Given the description of an element on the screen output the (x, y) to click on. 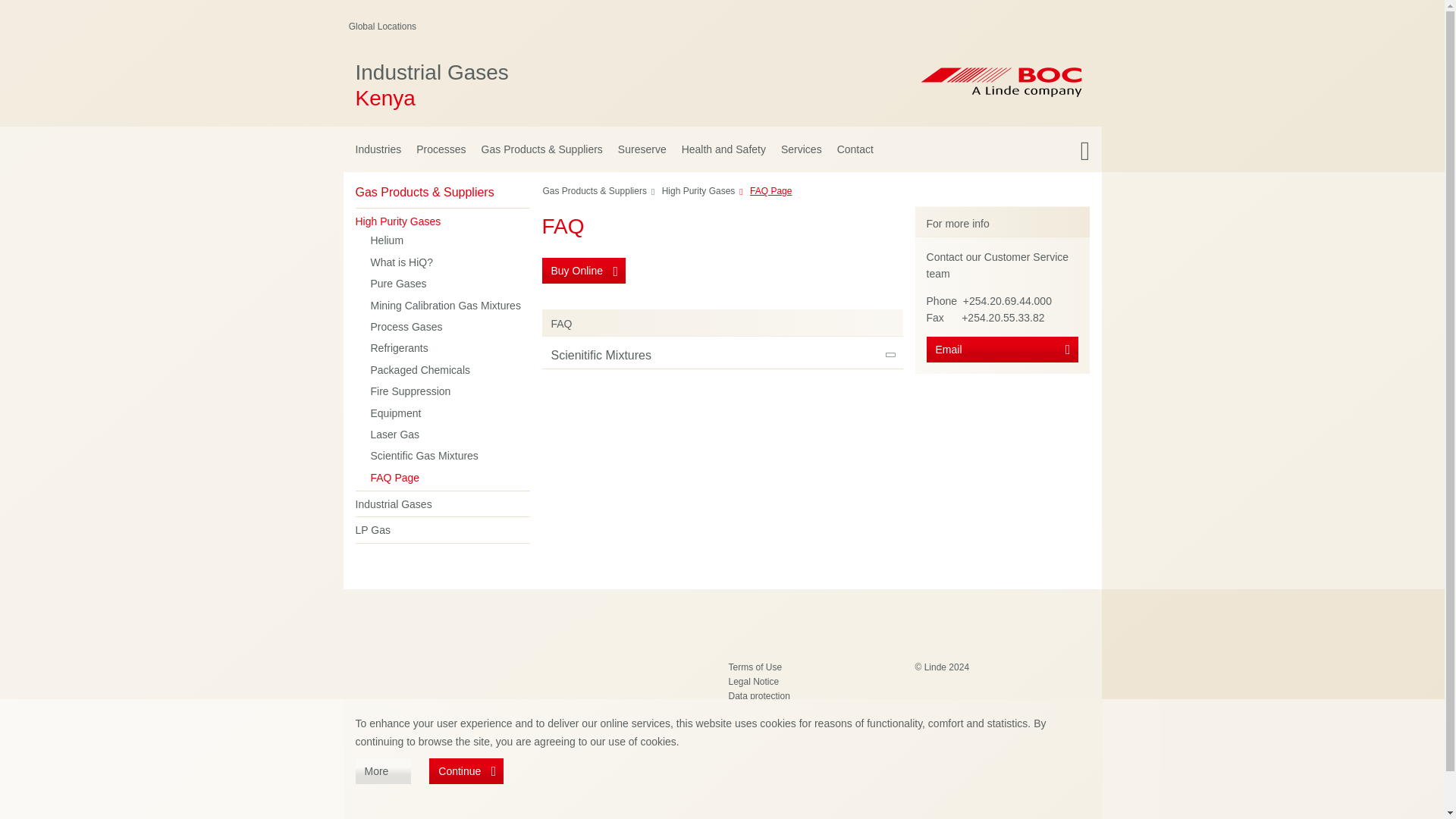
Processes (441, 148)
Global Locations (382, 26)
Industries (721, 194)
Industries (574, 84)
